Given the description of an element on the screen output the (x, y) to click on. 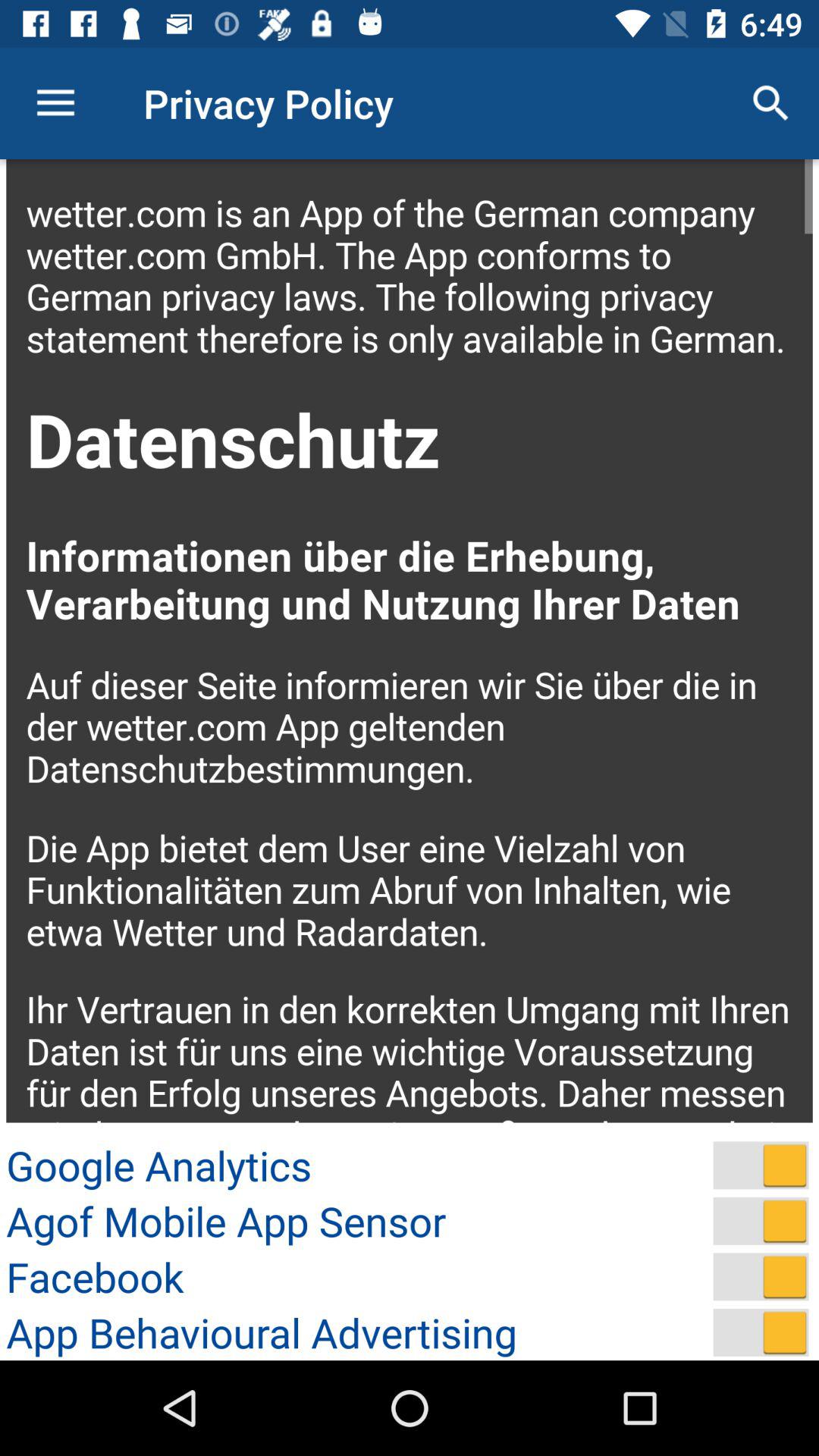
google analytics open (760, 1165)
